Given the description of an element on the screen output the (x, y) to click on. 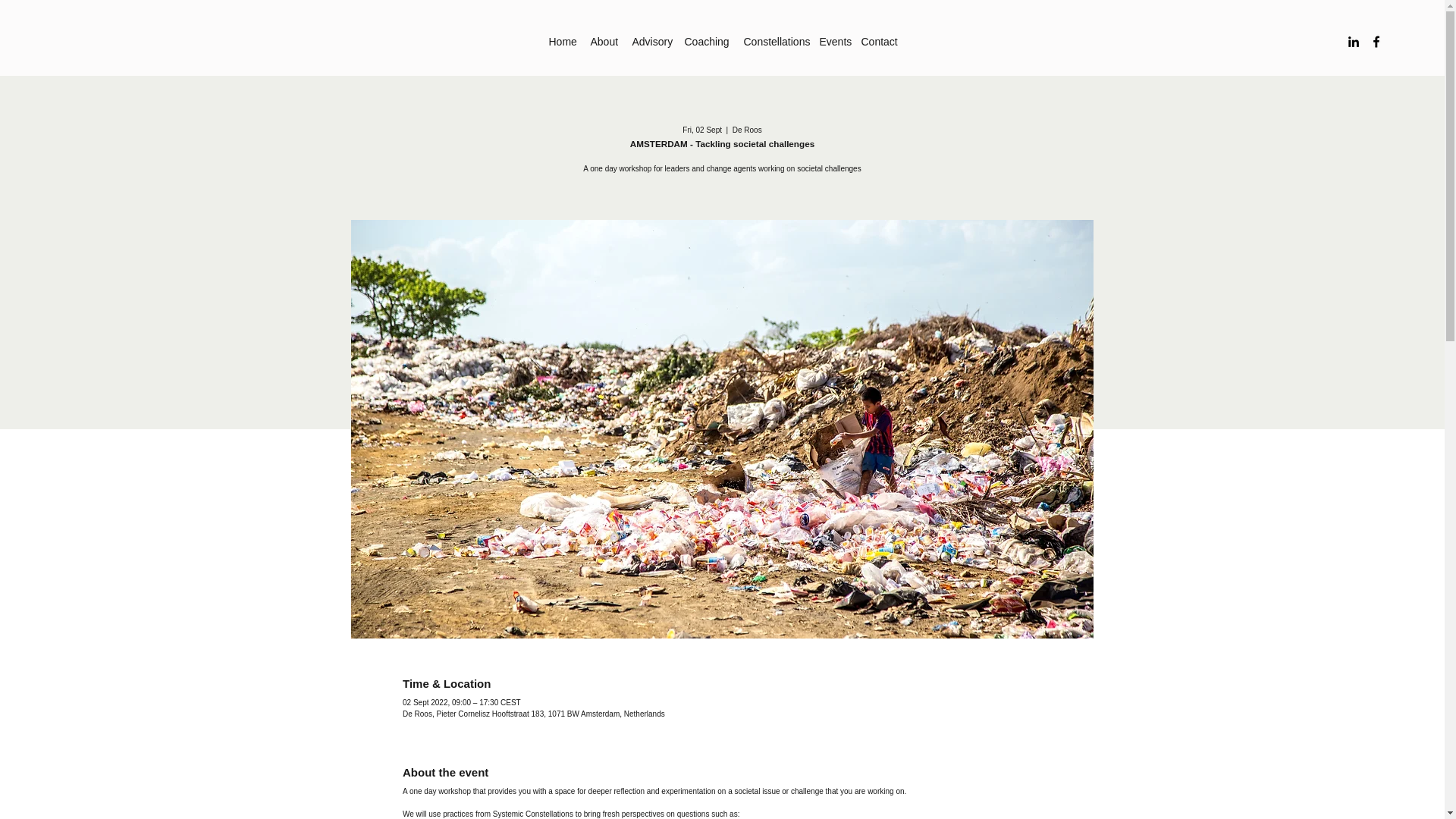
Coaching (706, 41)
Contact (877, 41)
About (603, 41)
Events (831, 41)
Advisory (650, 41)
Home (561, 41)
Constellations (772, 41)
